Given the description of an element on the screen output the (x, y) to click on. 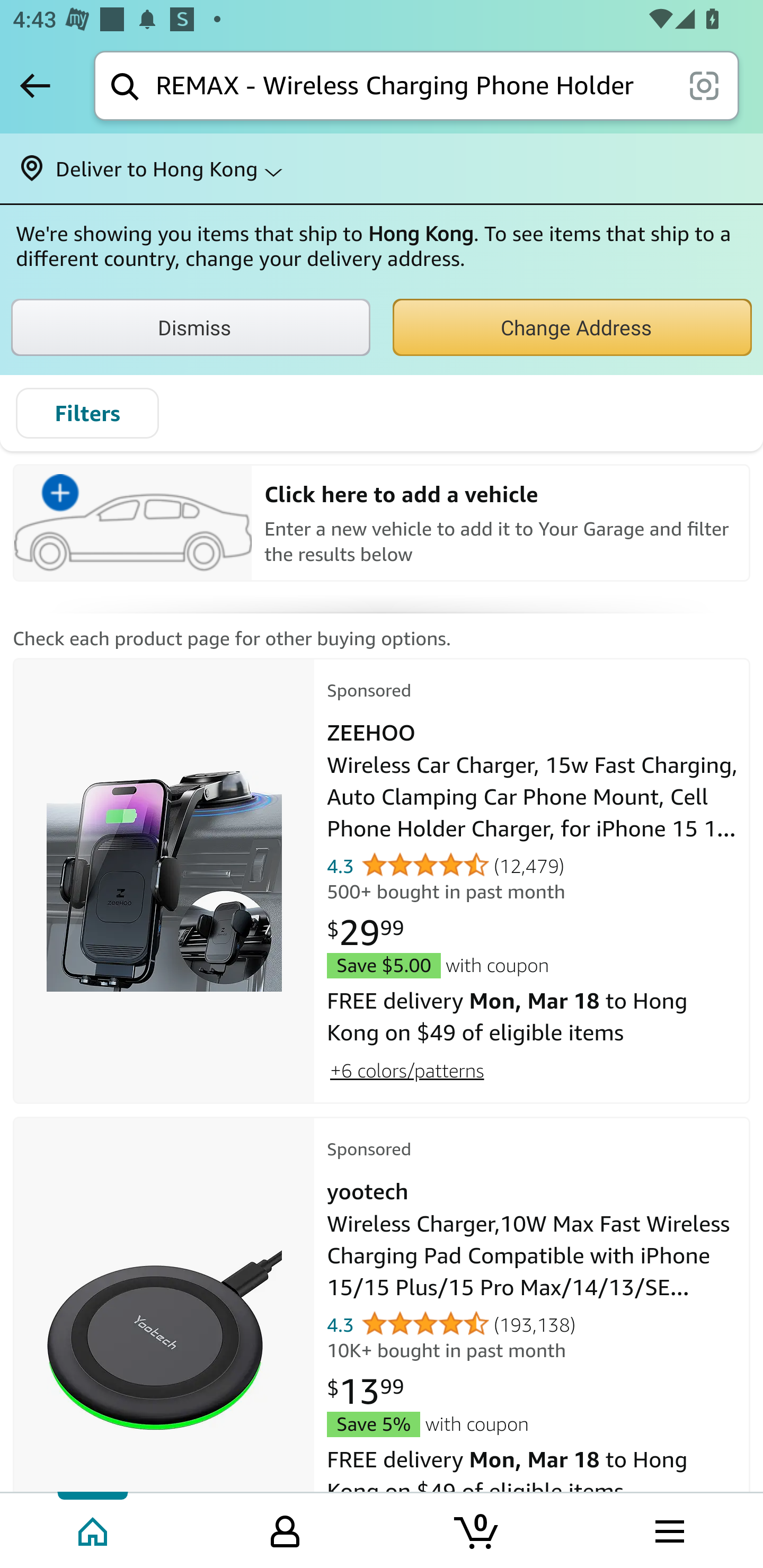
Back (35, 85)
scan it (704, 85)
Deliver to Hong Kong ⌵ (381, 168)
Dismiss (190, 327)
Change Address (571, 327)
Filters (87, 413)
+6 colors/patterns (406, 1069)
Home Tab 1 of 4 (94, 1529)
Your Amazon.com Tab 2 of 4 (285, 1529)
Cart 0 item Tab 3 of 4 0 (477, 1529)
Browse menu Tab 4 of 4 (668, 1529)
